Given the description of an element on the screen output the (x, y) to click on. 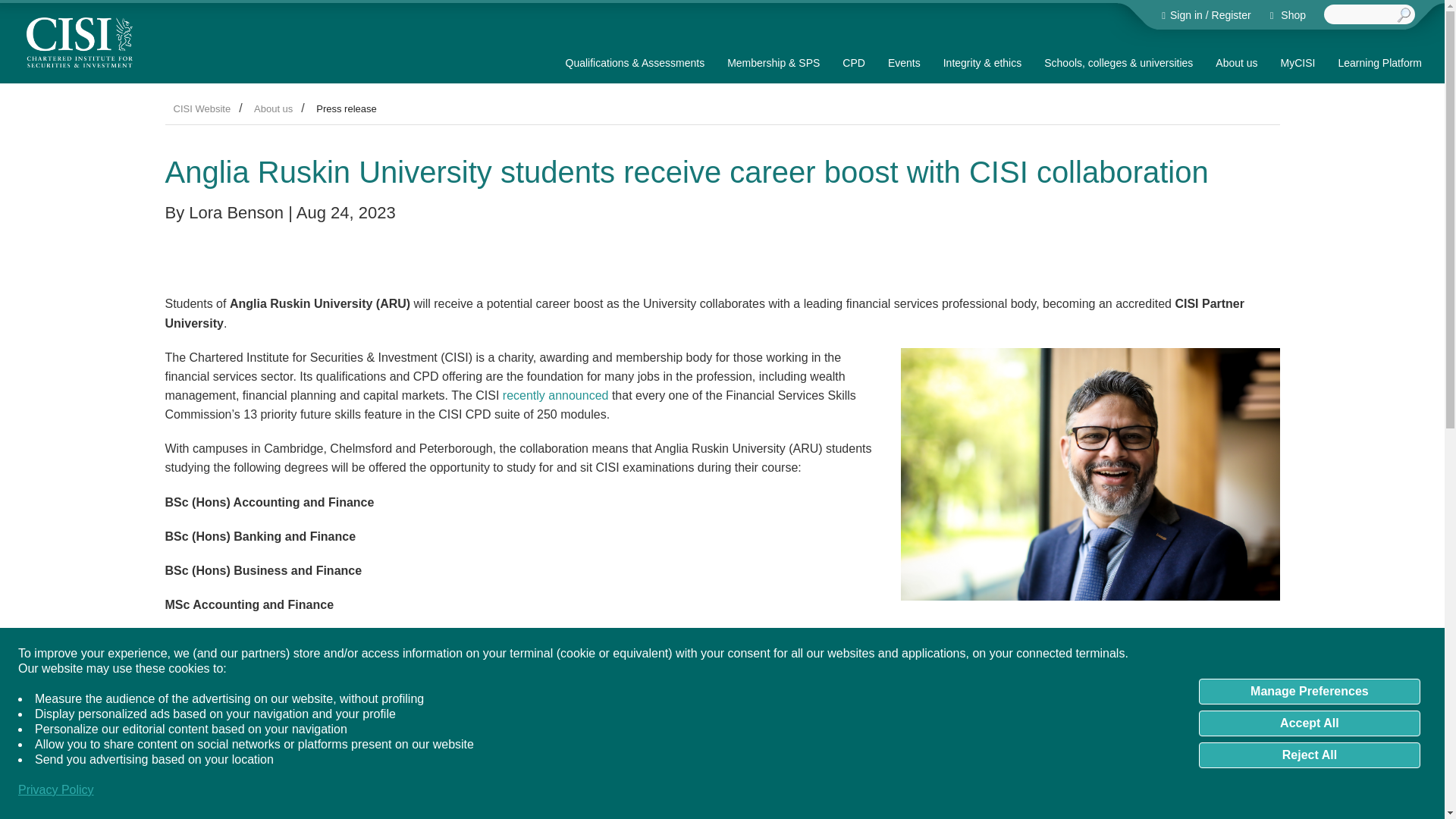
Search (1404, 14)
Search (1404, 14)
Reject All (1309, 755)
Search (1404, 14)
Accept All (1309, 723)
Register (1230, 14)
Shop (1287, 14)
Privacy Policy (55, 789)
Sign in (1184, 14)
Manage Preferences (1309, 691)
